Given the description of an element on the screen output the (x, y) to click on. 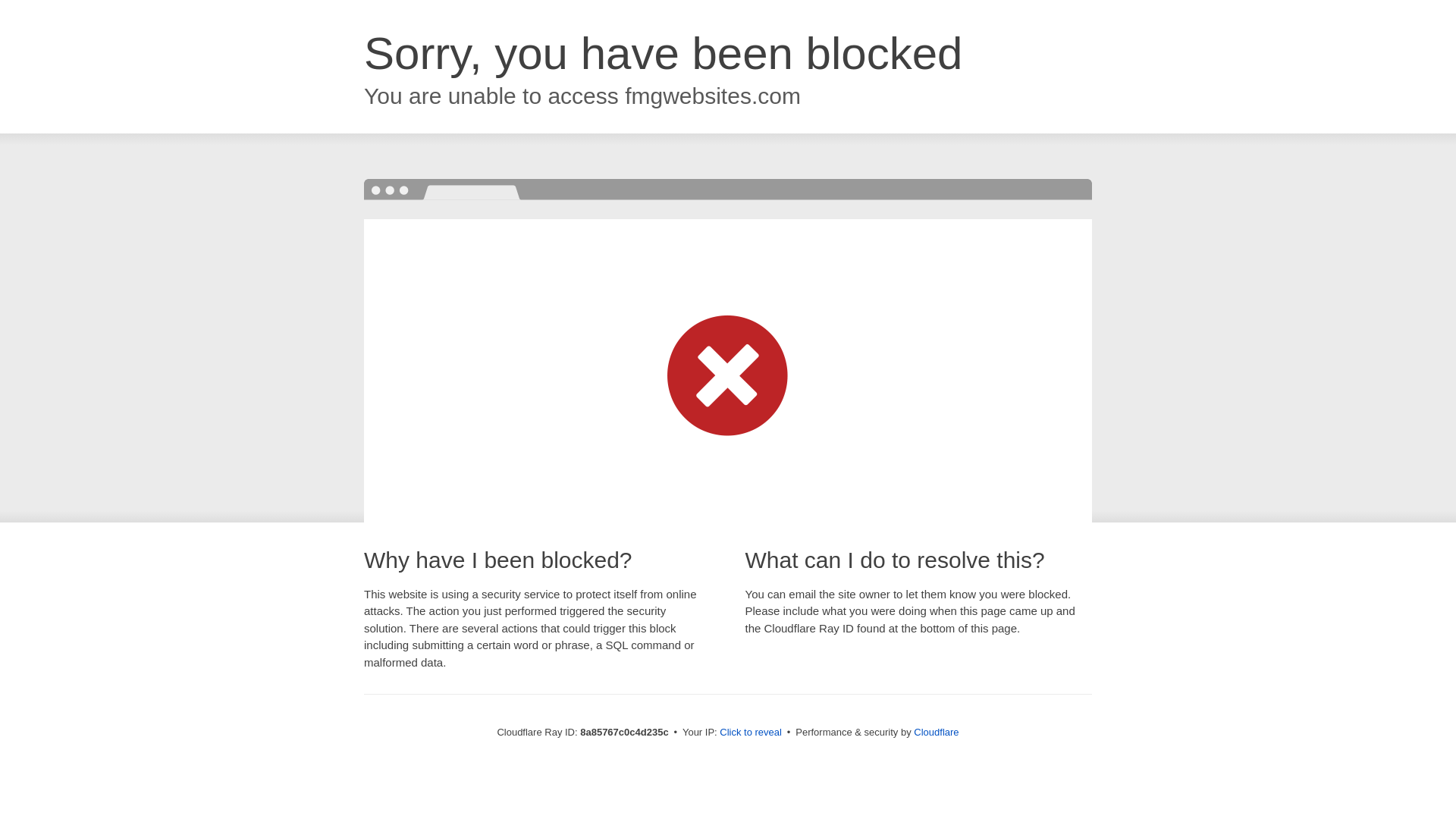
Click to reveal (750, 732)
Cloudflare (936, 731)
